Given the description of an element on the screen output the (x, y) to click on. 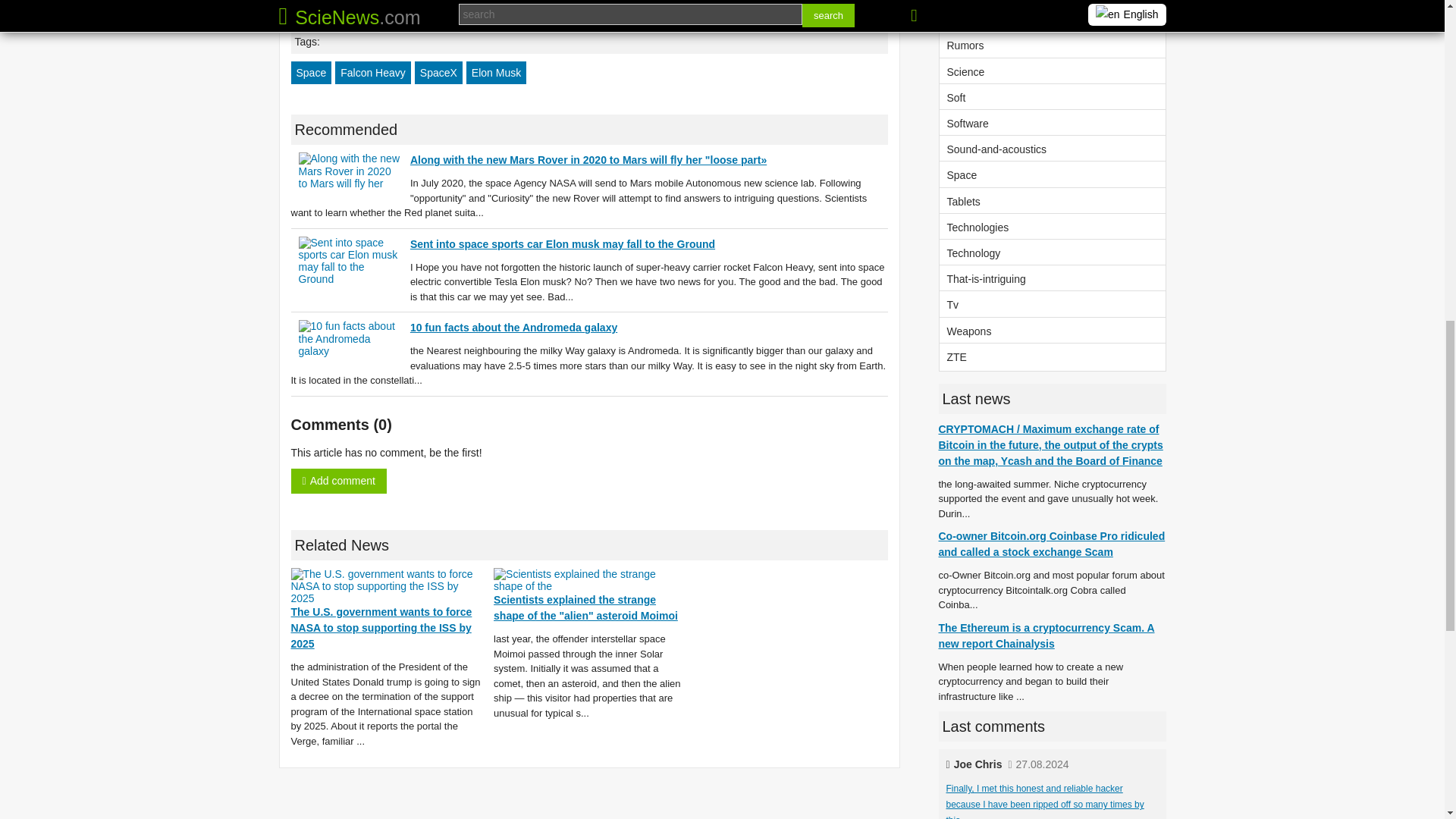
Elon Musk (495, 72)
10 fun facts about the Andromeda galaxy (513, 327)
Sent into space sports car Elon musk may fall to the Ground (562, 244)
Falcon Heavy (372, 72)
SpaceX (438, 72)
Space (311, 72)
